Given the description of an element on the screen output the (x, y) to click on. 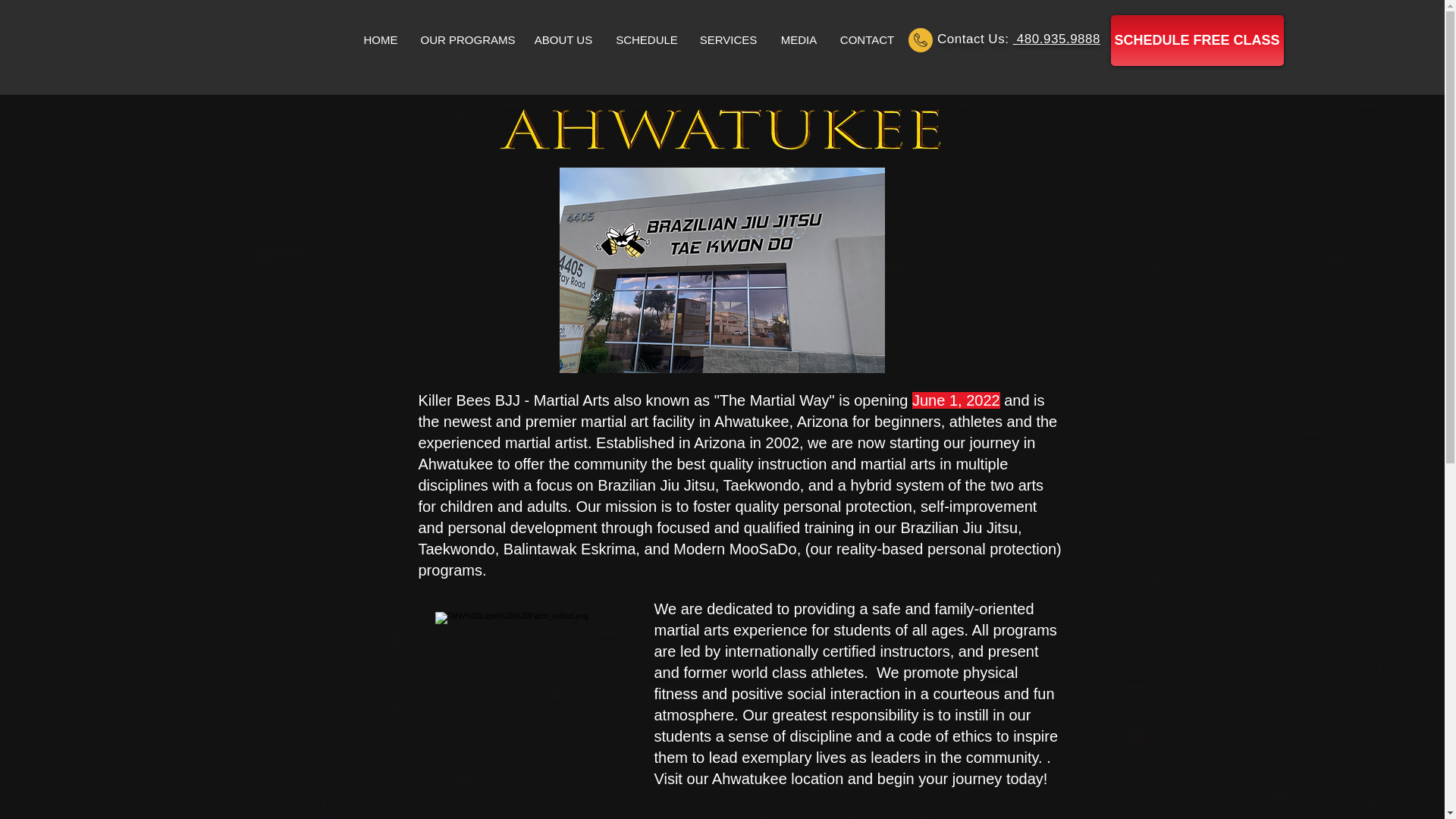
SCHEDULE FREE CLASS (1195, 40)
CONTACT (866, 40)
480.935.9888 (1056, 38)
HOME (380, 40)
SCHEDULE (646, 40)
ABOUT US (562, 40)
MEDIA (798, 40)
SERVICES (727, 40)
OUR PROGRAMS (466, 40)
